Given the description of an element on the screen output the (x, y) to click on. 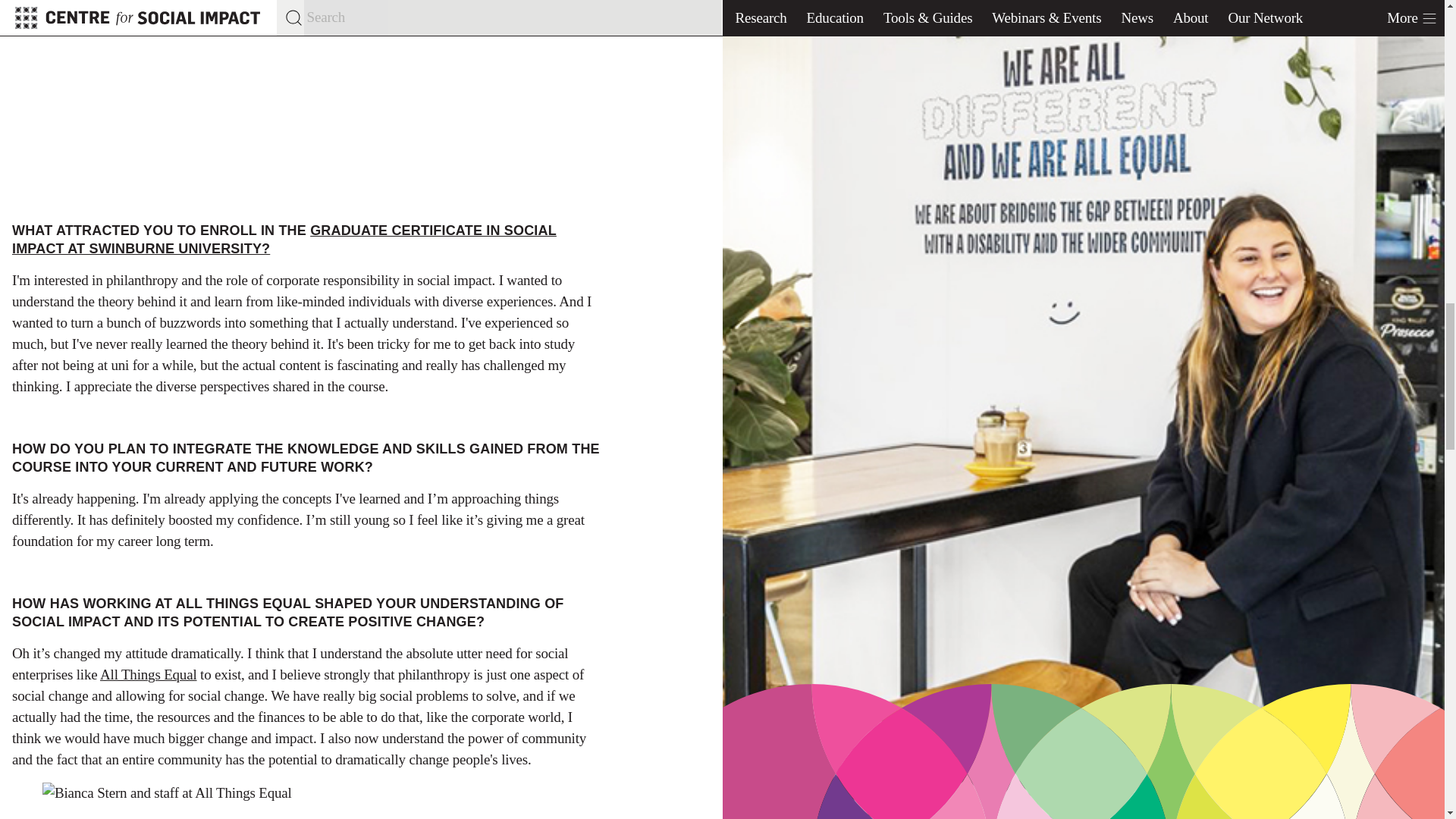
All Things Equal (148, 674)
